Given the description of an element on the screen output the (x, y) to click on. 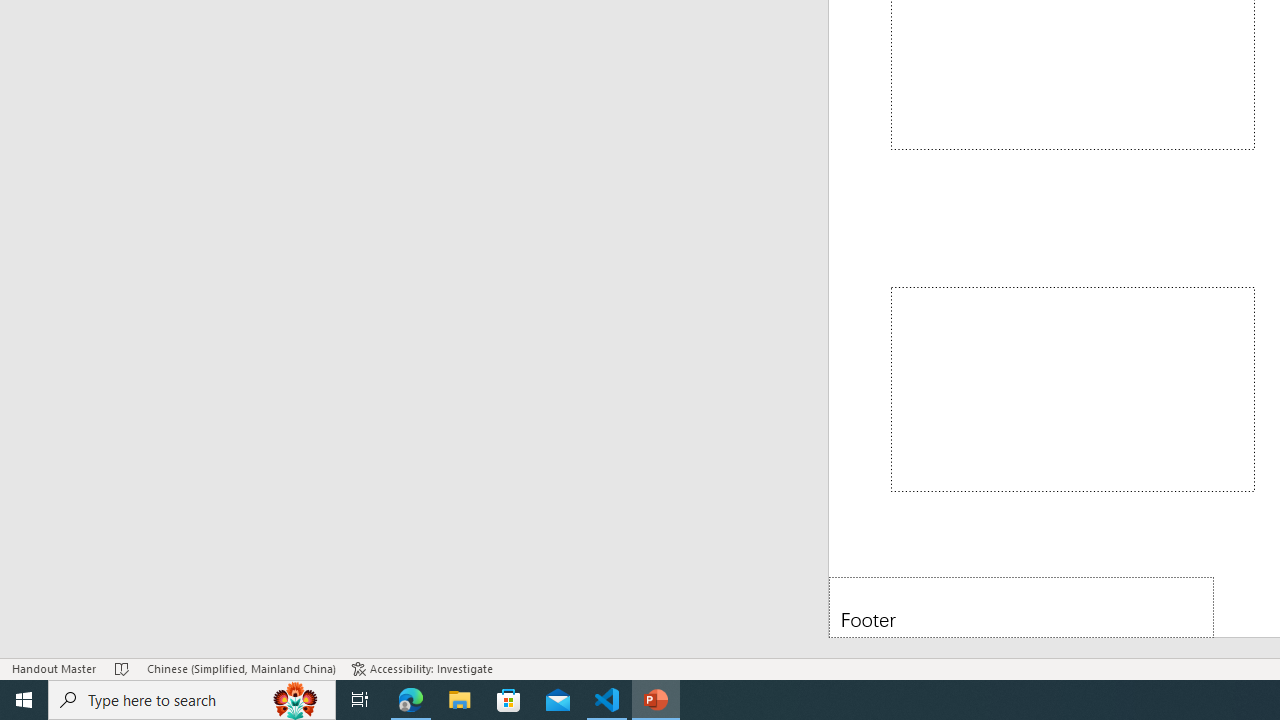
Footer (1021, 606)
